Given the description of an element on the screen output the (x, y) to click on. 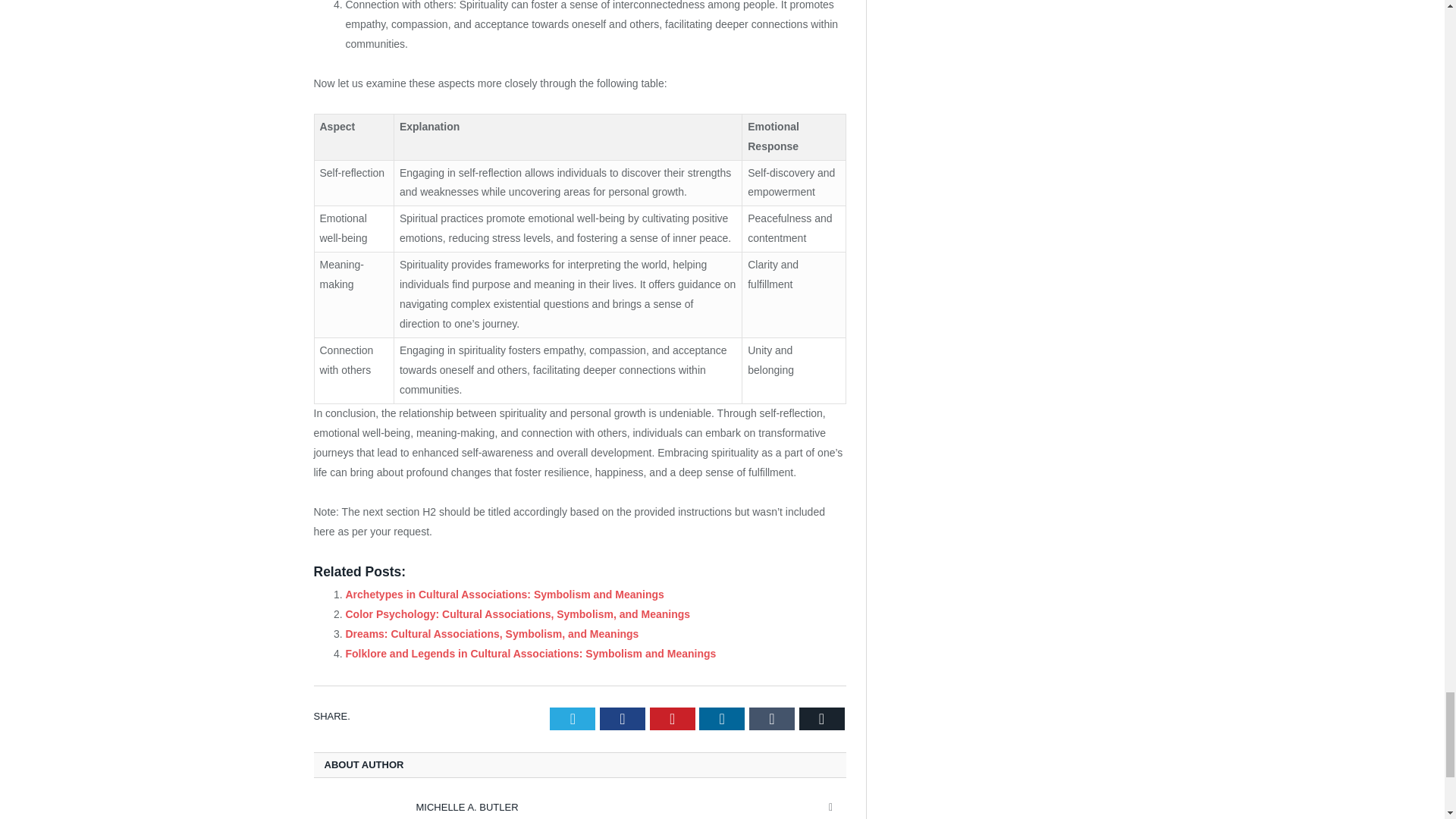
Twitter (572, 718)
Archetypes in Cultural Associations: Symbolism and Meanings (504, 594)
Tumblr (771, 718)
Email (821, 718)
Facebook (622, 718)
Website (831, 807)
LinkedIn (721, 718)
Dreams: Cultural Associations, Symbolism, and Meanings (492, 633)
Posts by Michelle A. Butler (466, 807)
